Given the description of an element on the screen output the (x, y) to click on. 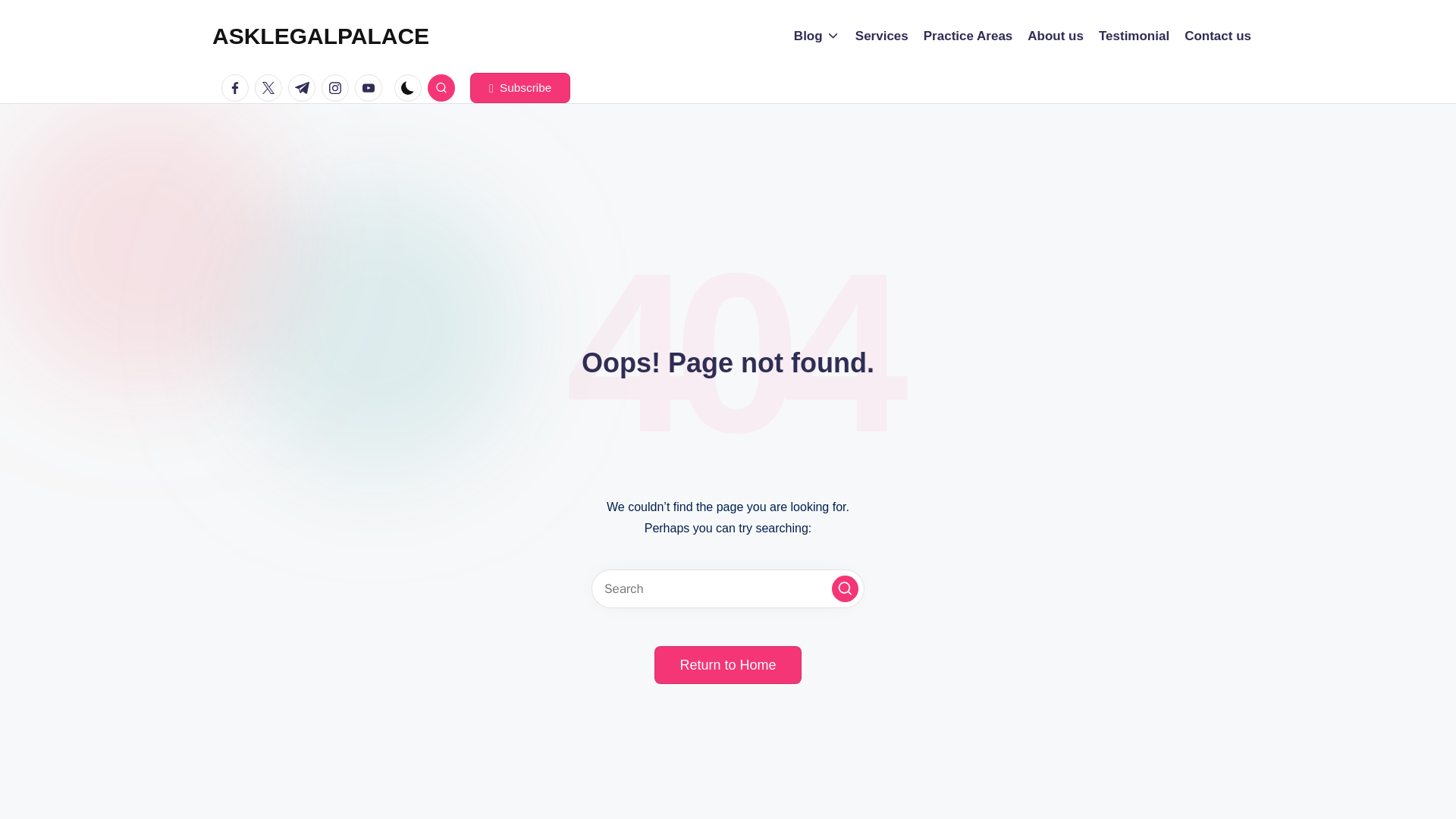
About us (1055, 36)
Subscribe (520, 87)
Services (882, 36)
instagram.com (338, 87)
t.me (304, 87)
Practice Areas (968, 36)
Blog (816, 36)
Return to Home (726, 664)
twitter.com (271, 87)
Contact us (1217, 36)
